Given the description of an element on the screen output the (x, y) to click on. 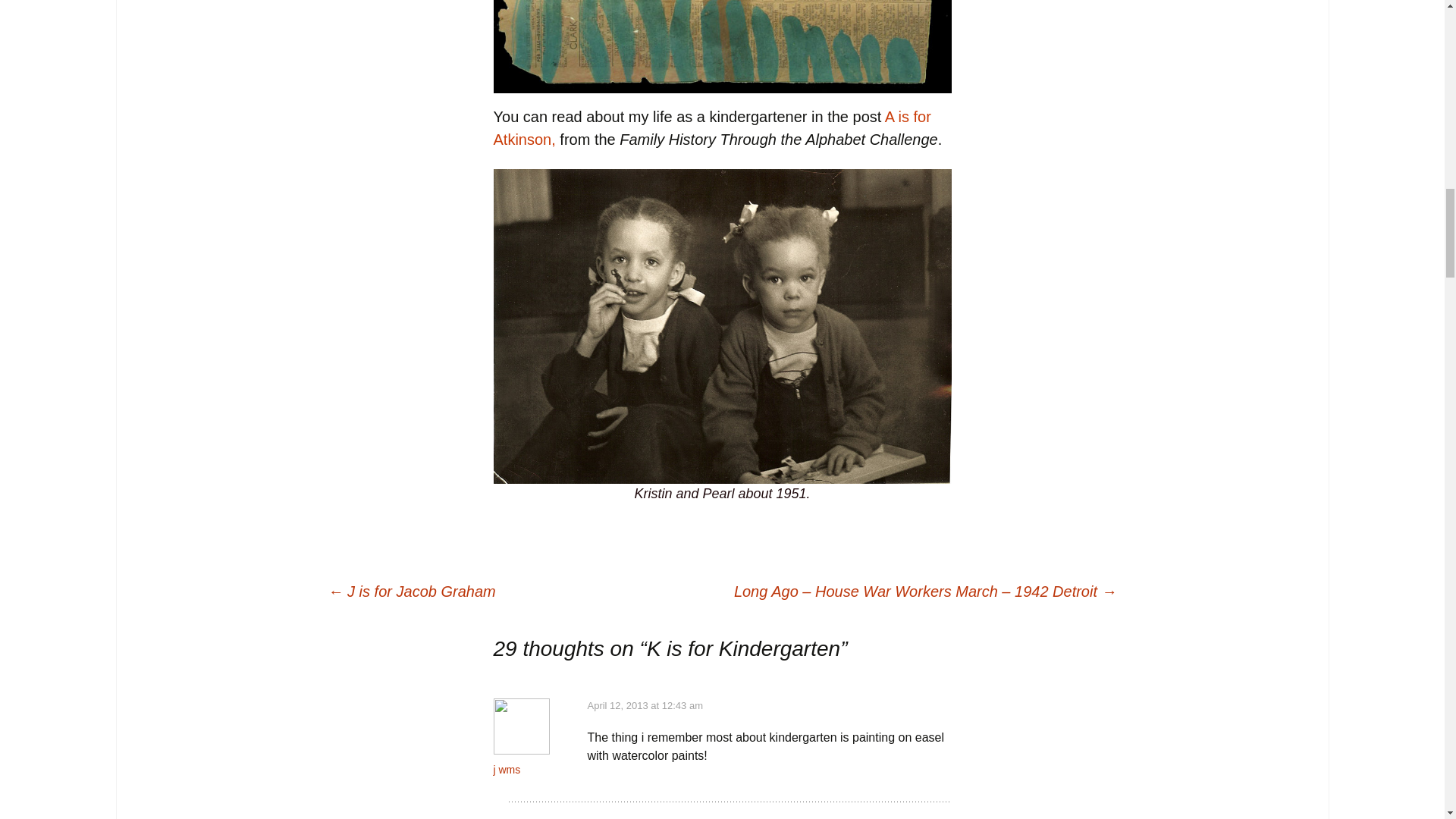
A is for Atkinson, (711, 128)
